Given the description of an element on the screen output the (x, y) to click on. 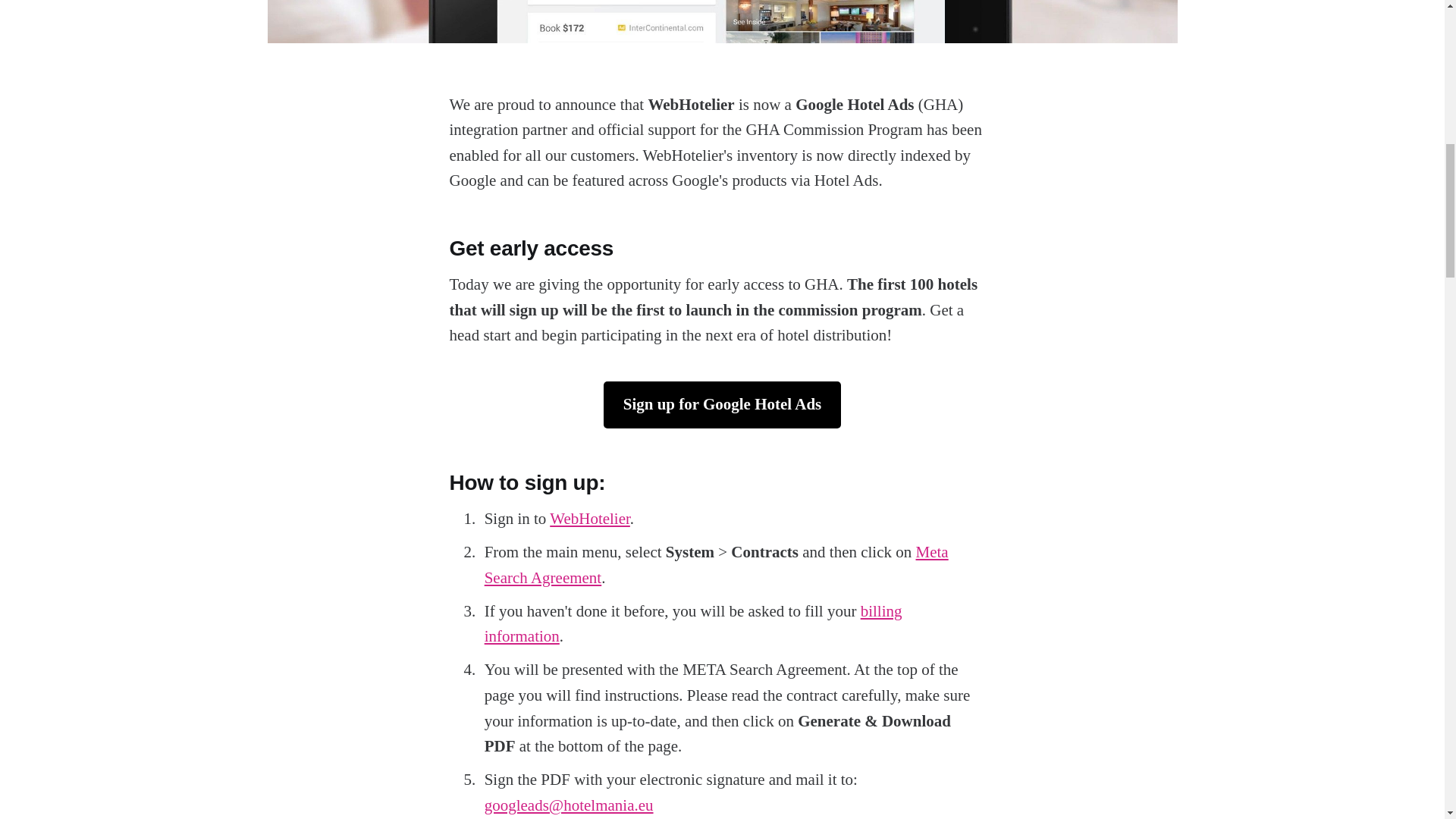
Meta Search Agreement (716, 564)
WebHotelier (590, 518)
billing information (693, 623)
Sign up for Google Hotel Ads (722, 404)
